Given the description of an element on the screen output the (x, y) to click on. 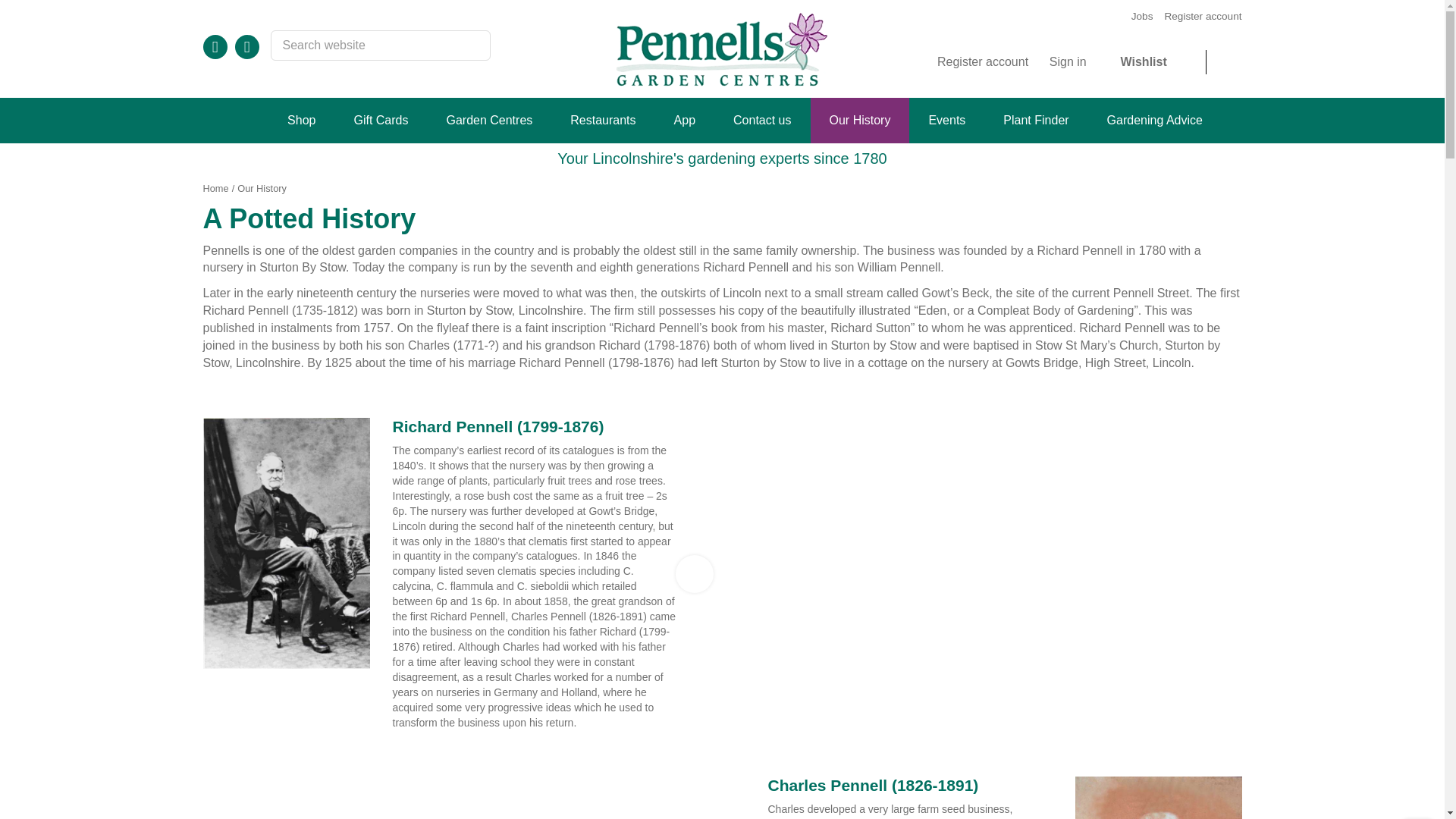
Restaurants (602, 120)
Home (244, 120)
Register account (993, 61)
Gift Cards (380, 120)
Home (215, 188)
Search (474, 46)
Garden Centres (488, 120)
Go to the wishlist (1164, 61)
Webshop (300, 120)
Go to the shopping cart (1229, 61)
Home (215, 188)
Our History (261, 188)
Jobs (1142, 16)
Our History (261, 188)
Shop (300, 120)
